Given the description of an element on the screen output the (x, y) to click on. 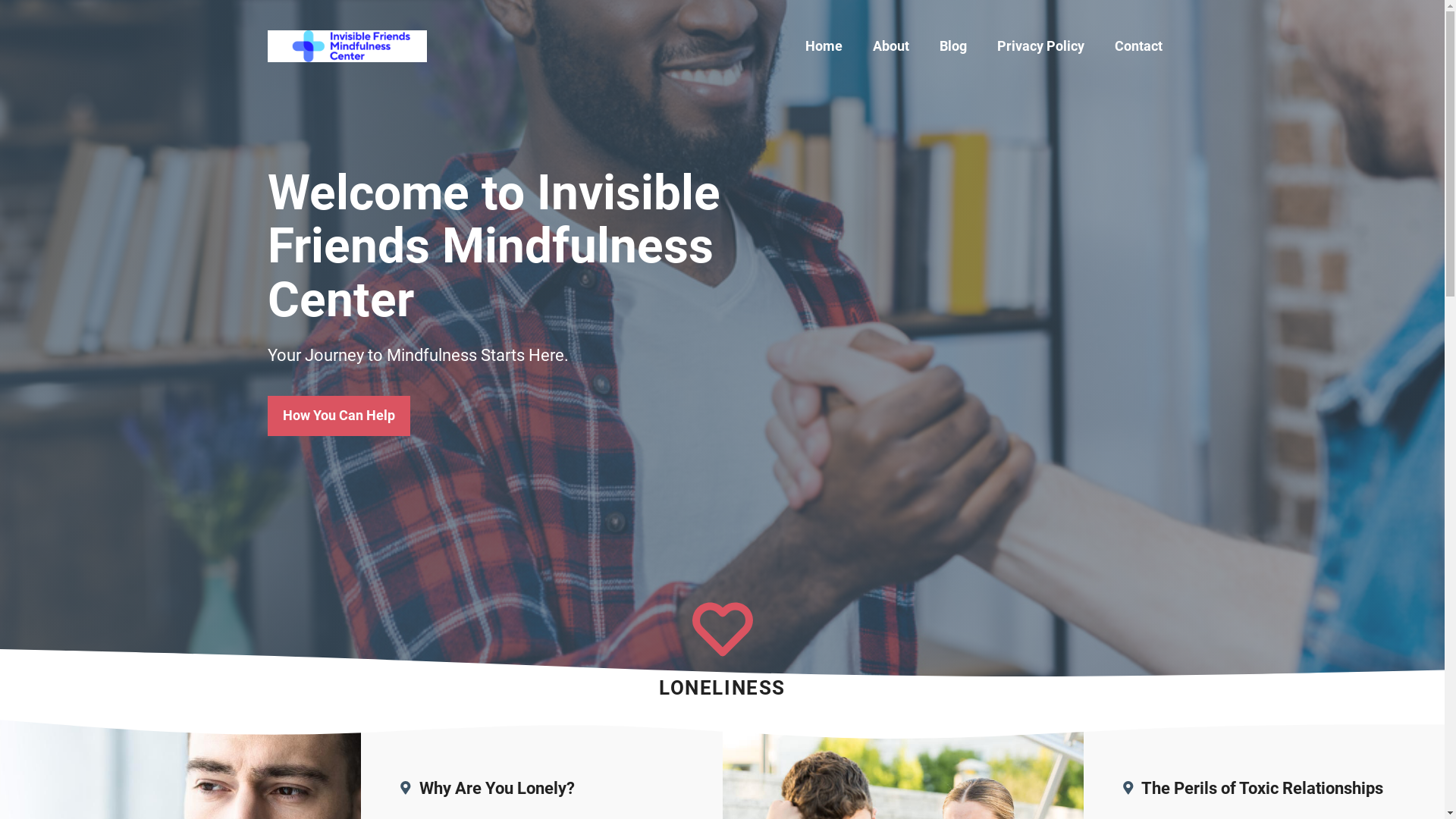
Home Element type: text (823, 46)
How You Can Help Element type: text (337, 415)
About Element type: text (889, 46)
Privacy Policy Element type: text (1039, 46)
Contact Element type: text (1138, 46)
Blog Element type: text (952, 46)
